Given the description of an element on the screen output the (x, y) to click on. 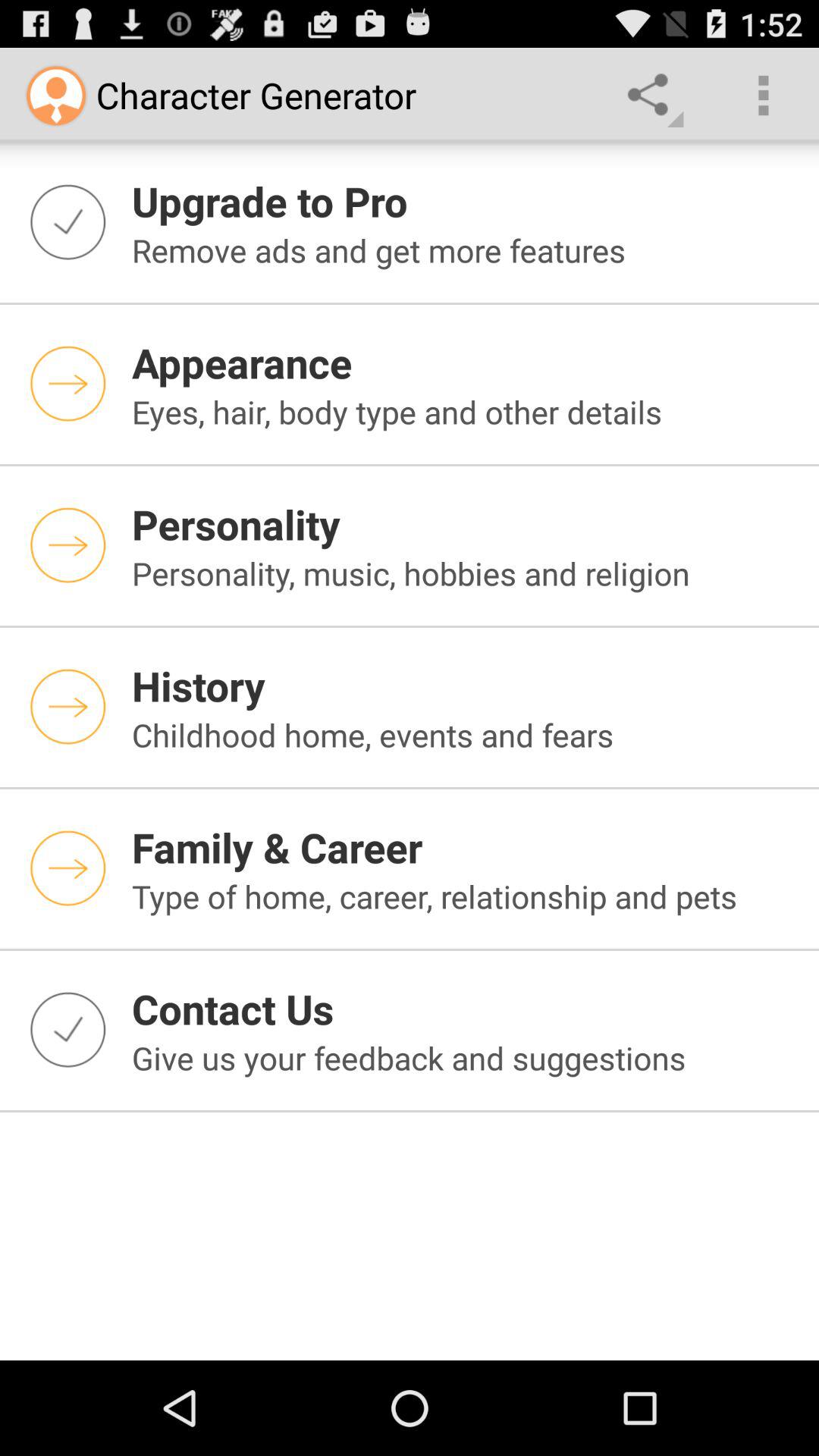
swipe until contact us (465, 1008)
